Given the description of an element on the screen output the (x, y) to click on. 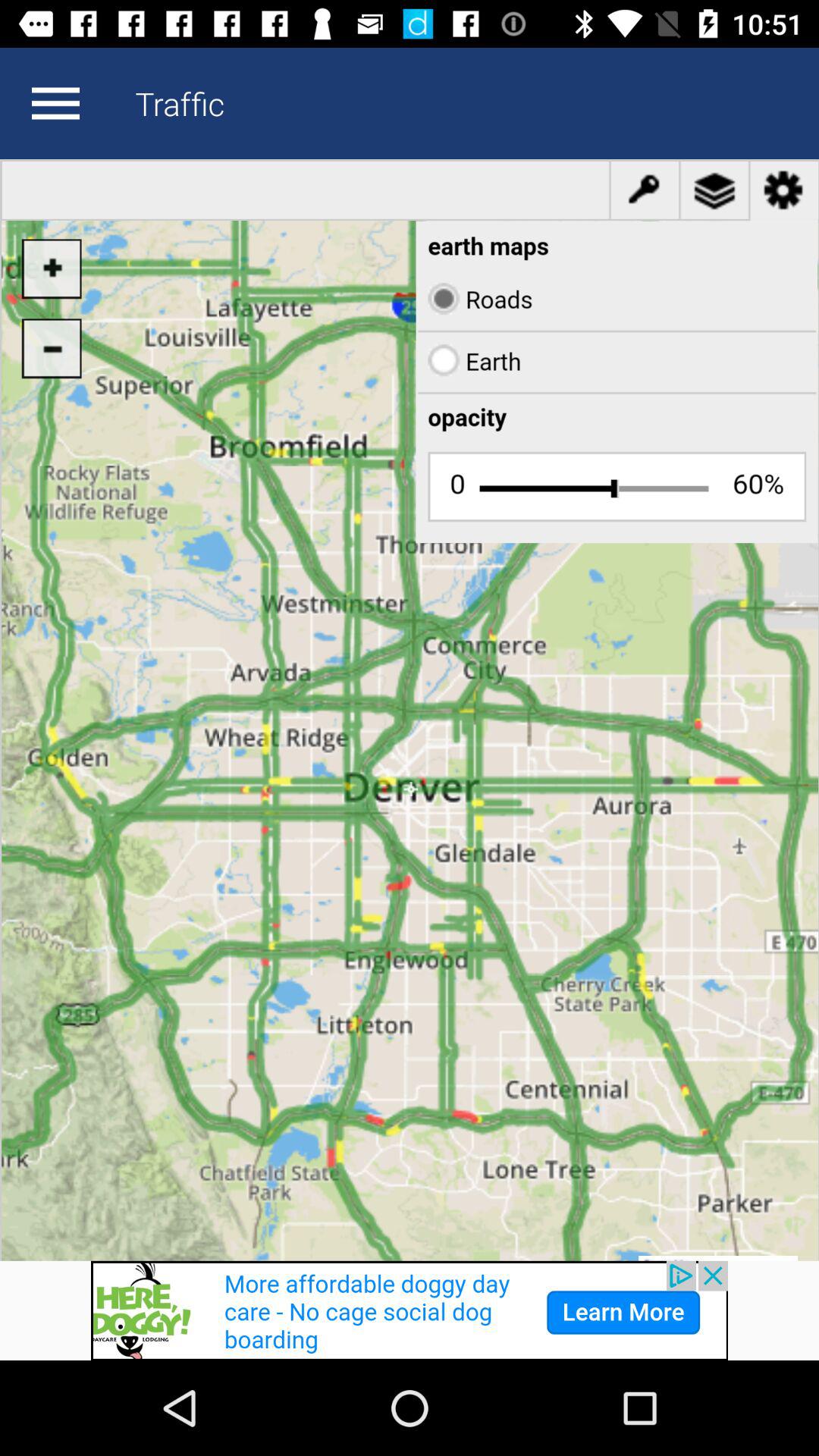
submenu (55, 103)
